Given the description of an element on the screen output the (x, y) to click on. 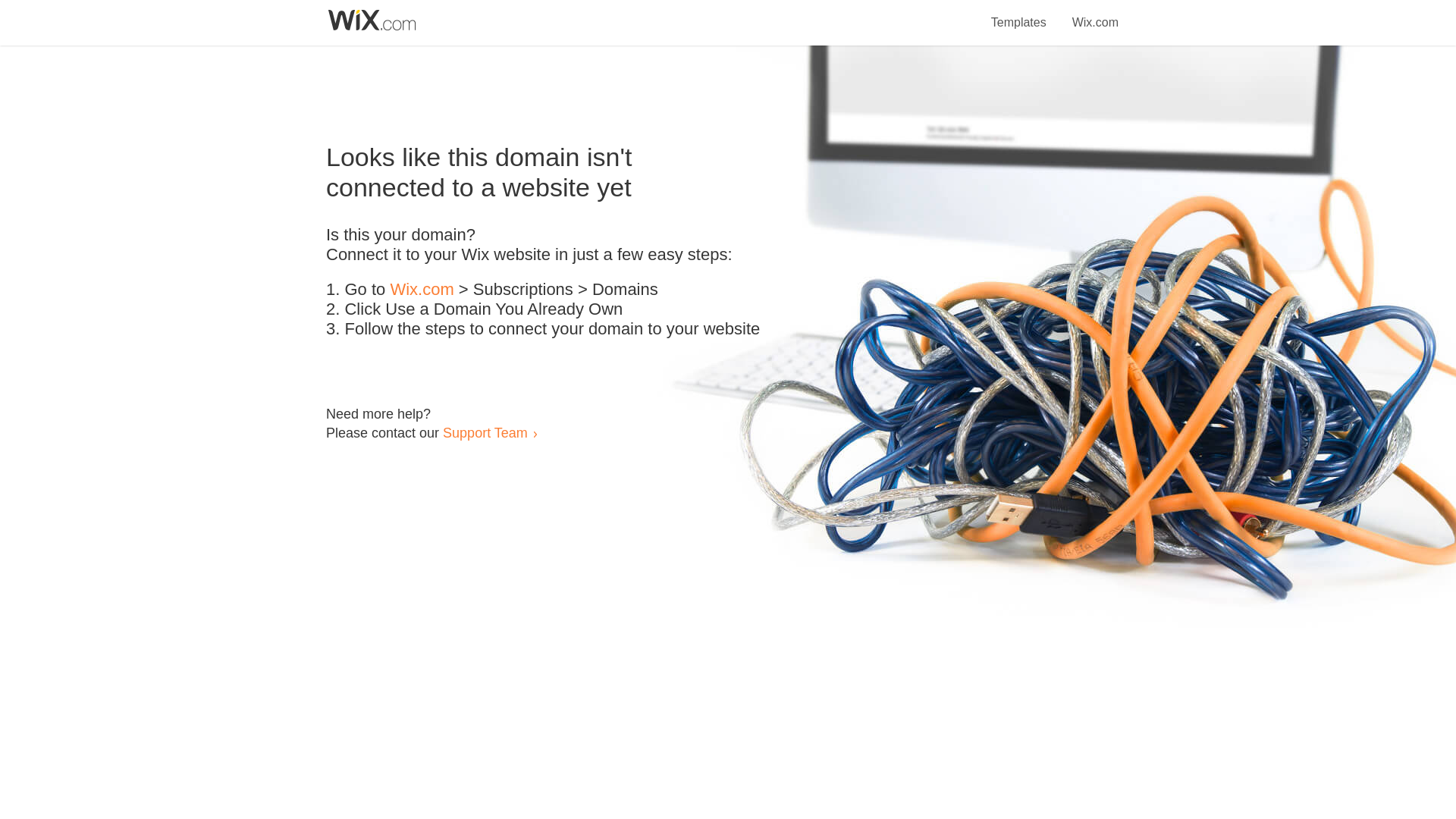
Wix.com (1095, 14)
Wix.com (421, 289)
Support Team (484, 432)
Templates (1018, 14)
